Given the description of an element on the screen output the (x, y) to click on. 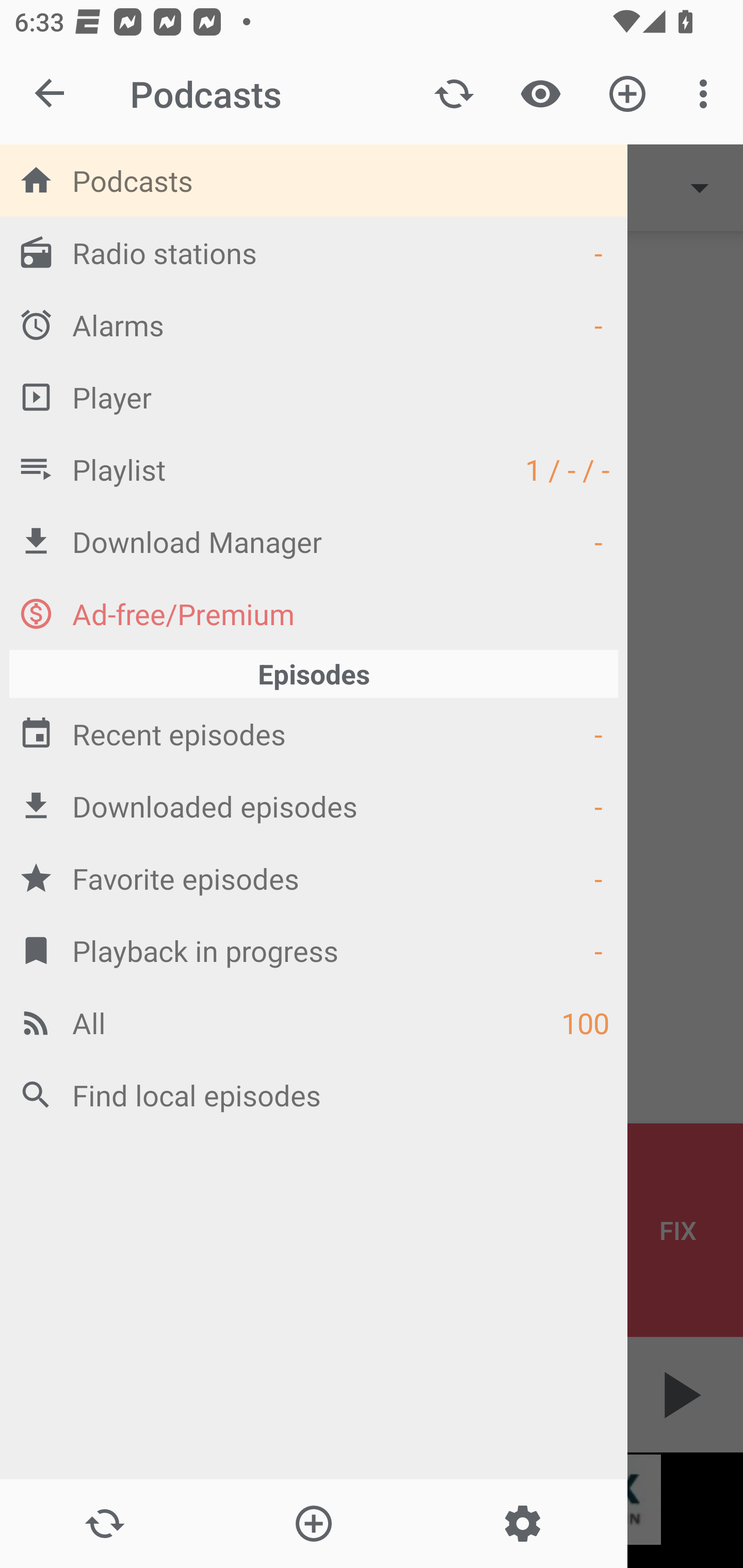
Close navigation sidebar (50, 93)
Update (453, 93)
Show / Hide played content (540, 93)
Add new Podcast (626, 93)
More options (706, 93)
Podcasts (313, 180)
Radio stations  -  (313, 252)
Alarms  -  (313, 324)
Player (313, 396)
Playlist 1 / - / - (313, 468)
Download Manager  -  (313, 540)
Ad-free/Premium (313, 613)
Recent episodes  -  (313, 733)
Downloaded episodes  -  (313, 805)
Favorite episodes  -  (313, 878)
Playback in progress  -  (313, 950)
All 100 (313, 1022)
Find local episodes (313, 1094)
Update (104, 1523)
Add new Podcast (312, 1523)
Settings (522, 1523)
